Given the description of an element on the screen output the (x, y) to click on. 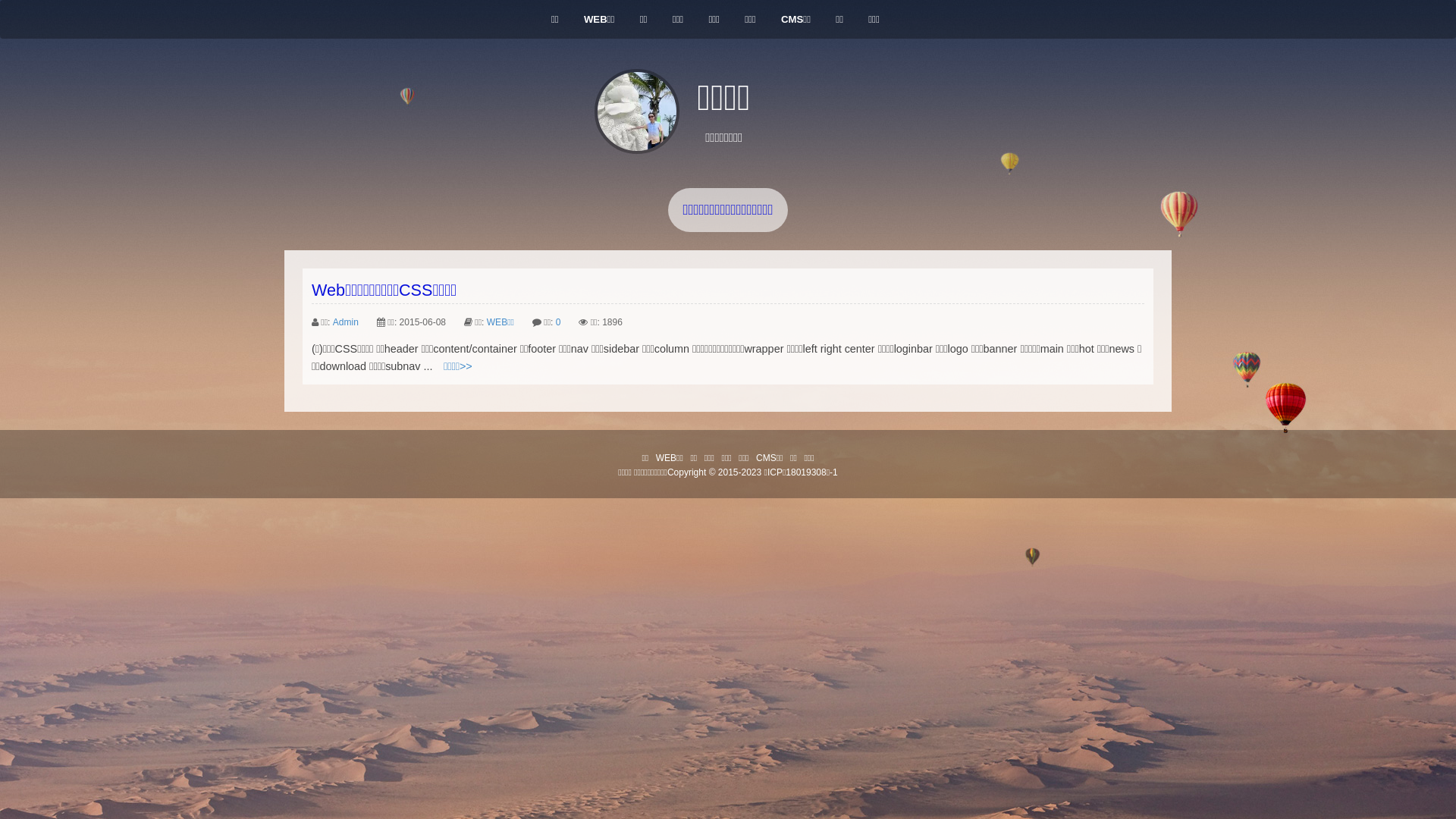
0 Element type: text (558, 321)
Admin Element type: text (345, 321)
